Given the description of an element on the screen output the (x, y) to click on. 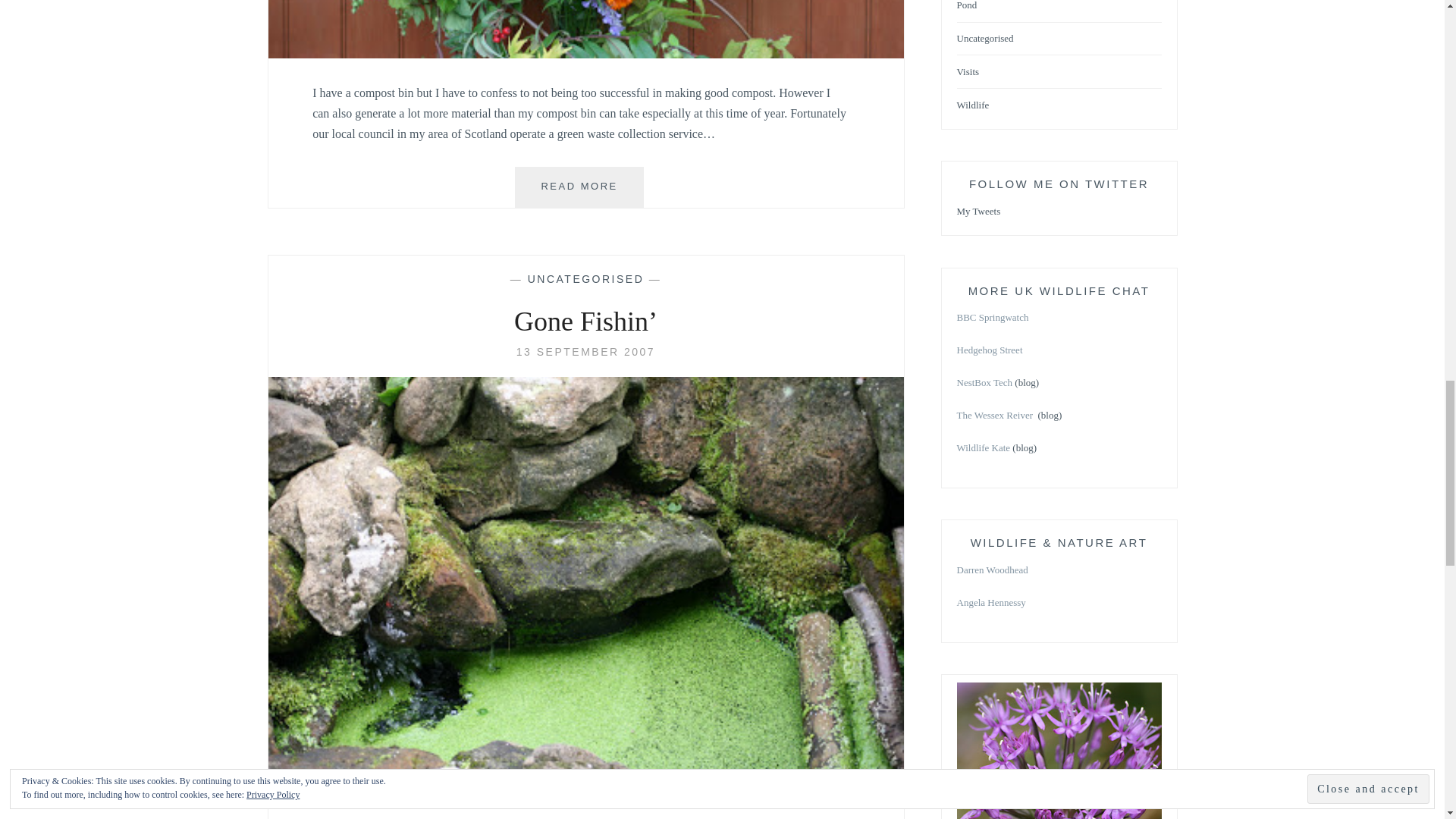
Blowing in the wind (579, 187)
13 SEPTEMBER 2007 (585, 53)
Pond (585, 351)
UNCATEGORISED (966, 6)
